Given the description of an element on the screen output the (x, y) to click on. 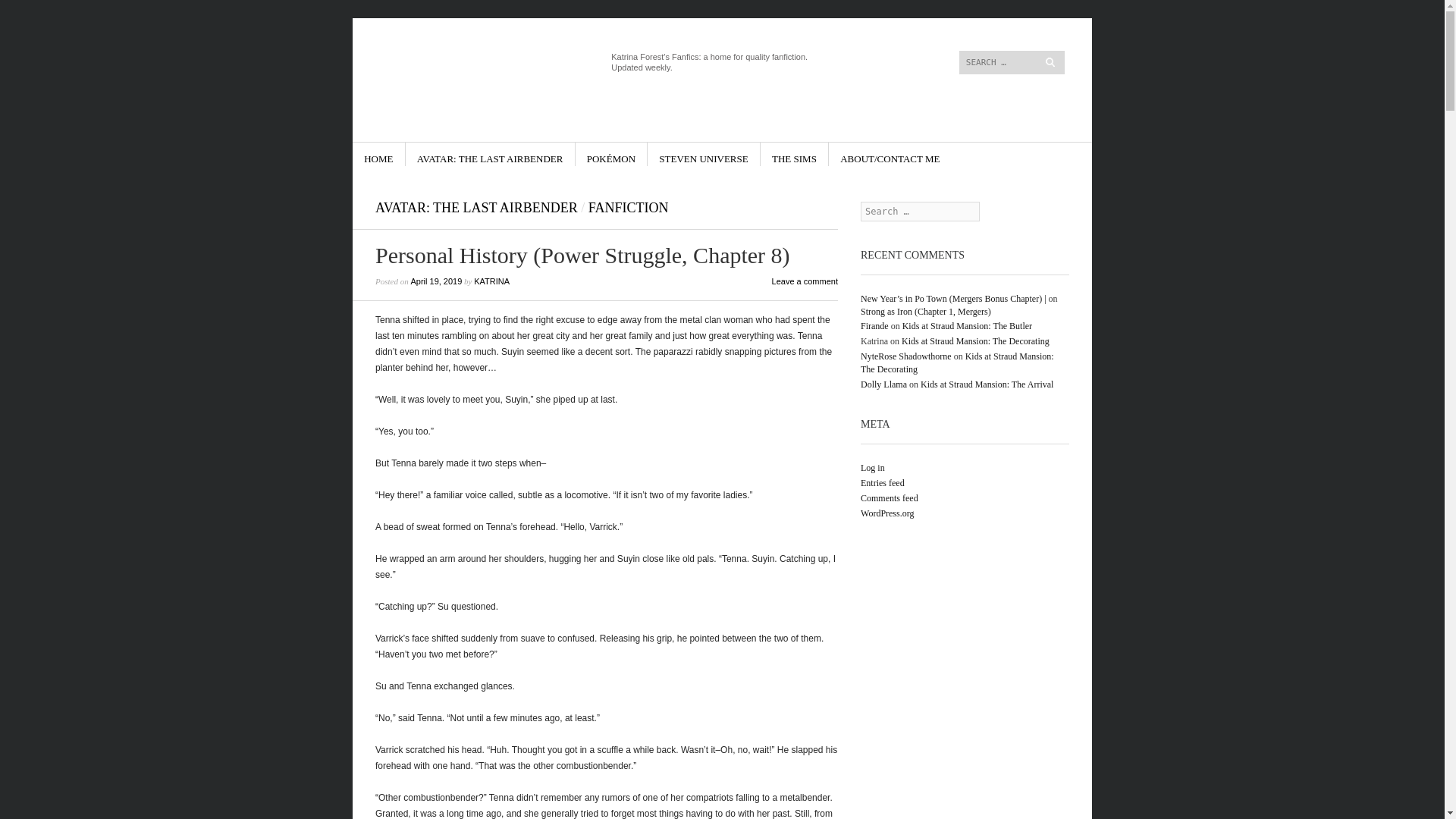
FANFICTION (628, 207)
Skip to content (885, 23)
April 19, 2019 (435, 280)
Comments feed (889, 498)
SKIP TO CONTENT (406, 154)
Log in (872, 467)
HOME (378, 154)
Entries feed (882, 482)
Skip to content (406, 154)
Kids at Straud Mansion: The Arrival (986, 384)
AVATAR: THE LAST AIRBENDER (476, 207)
Search (26, 9)
Leave a comment (804, 280)
KATRINA (491, 280)
Kids at Straud Mansion: The Decorating (975, 340)
